Given the description of an element on the screen output the (x, y) to click on. 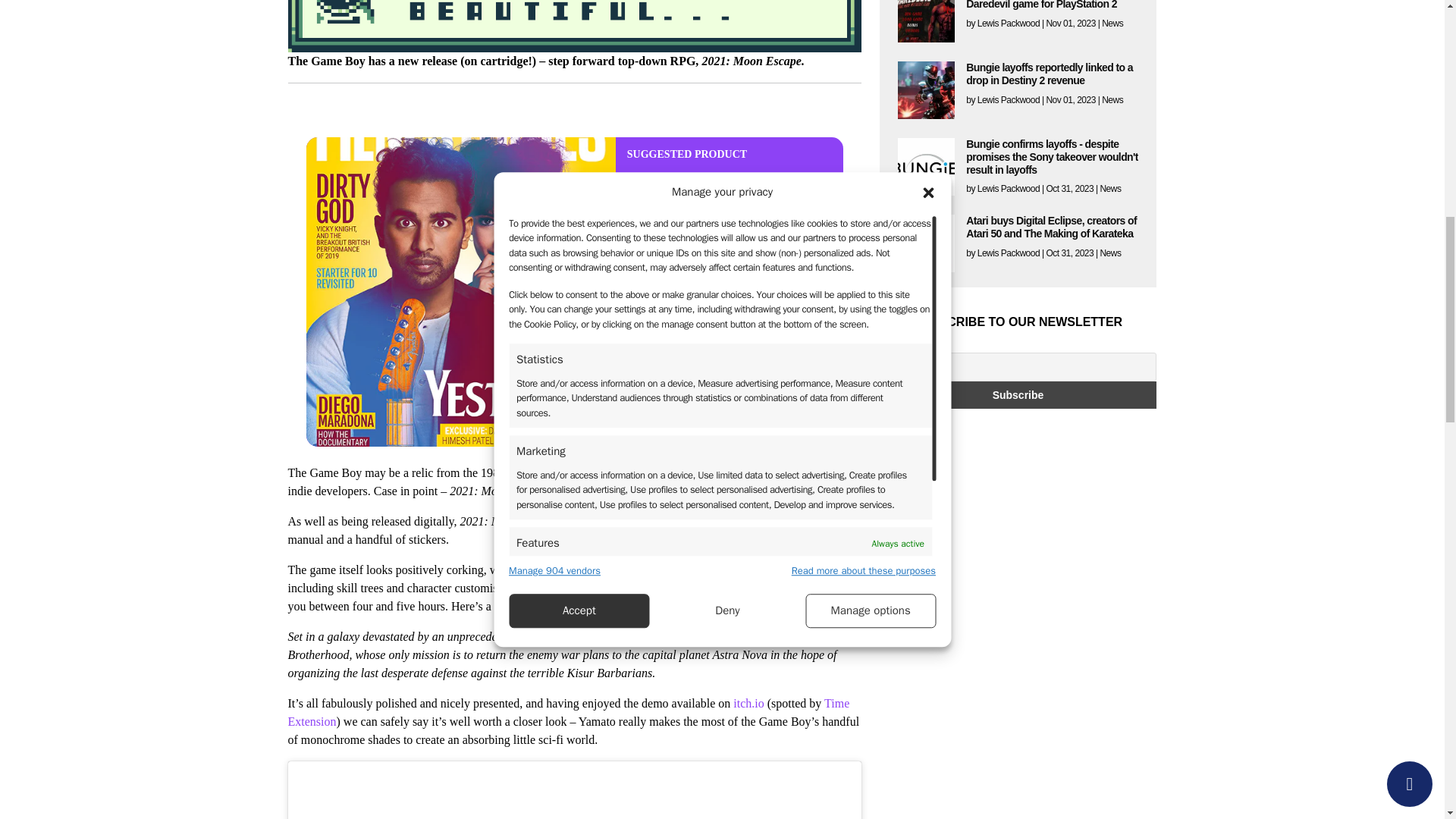
PDF magazine (654, 225)
Time Extension (569, 712)
Deny (727, 295)
Subscribe (1018, 394)
Read more about these purposes (864, 319)
Manage options (870, 173)
Accept (578, 317)
Film Stories Issue 6 - PDF Download (729, 192)
Manage 904 vendors (553, 337)
itch.io (747, 703)
